Given the description of an element on the screen output the (x, y) to click on. 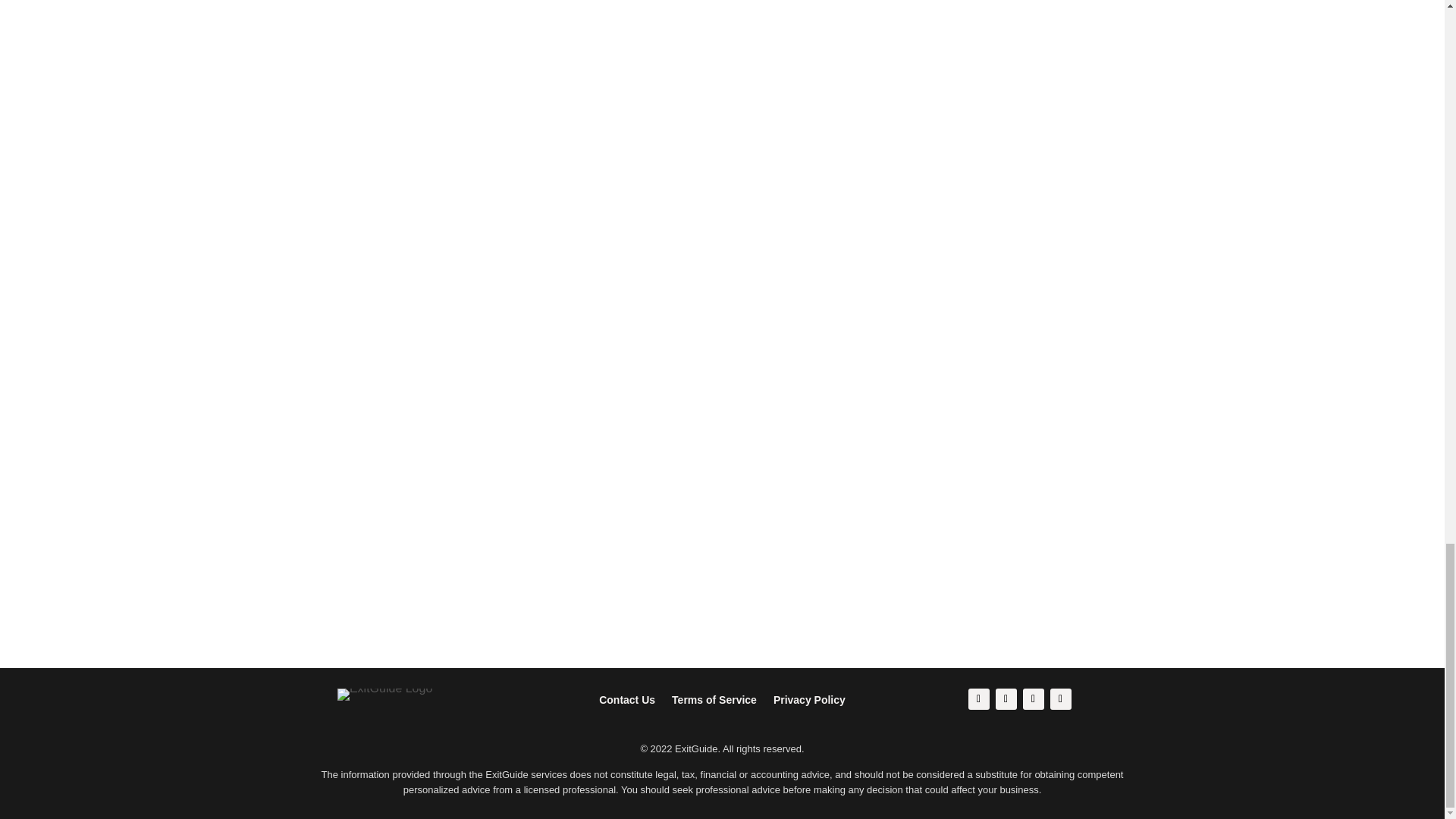
Follow on Youtube (1059, 699)
Follow on Facebook (978, 699)
Follow on LinkedIn (1032, 699)
Follow on X (1005, 699)
